Given the description of an element on the screen output the (x, y) to click on. 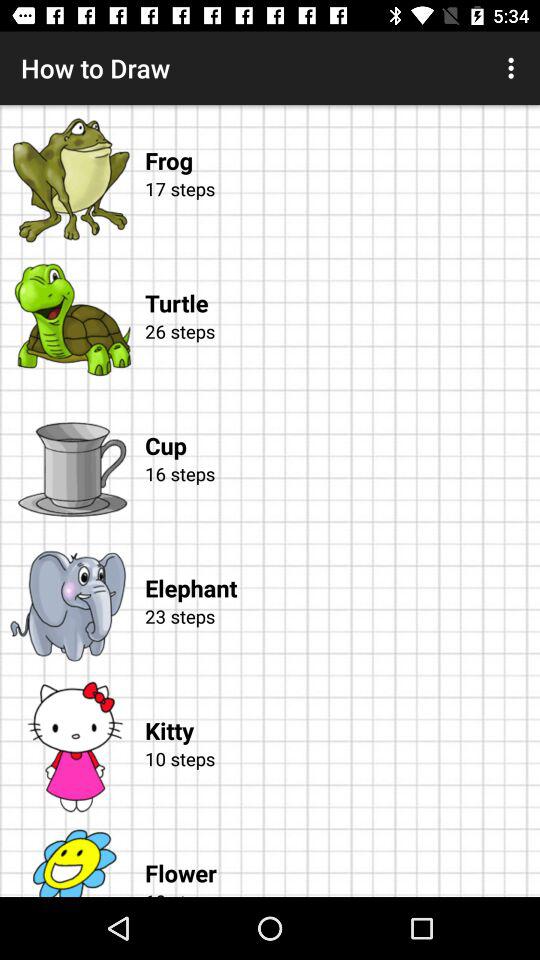
turn on the icon at the top right corner (513, 67)
